Given the description of an element on the screen output the (x, y) to click on. 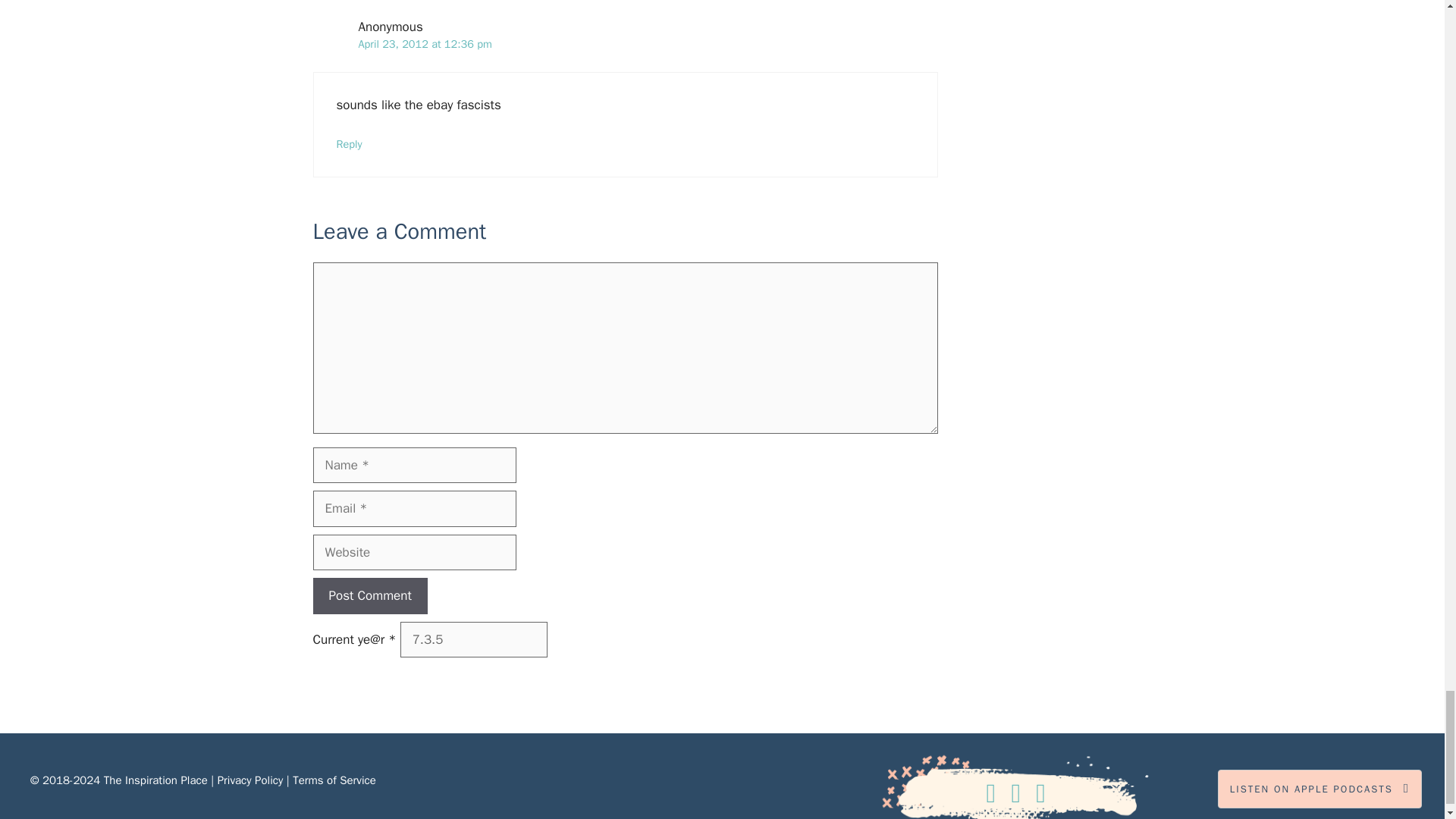
Post Comment (369, 596)
7.3.5 (473, 639)
